Given the description of an element on the screen output the (x, y) to click on. 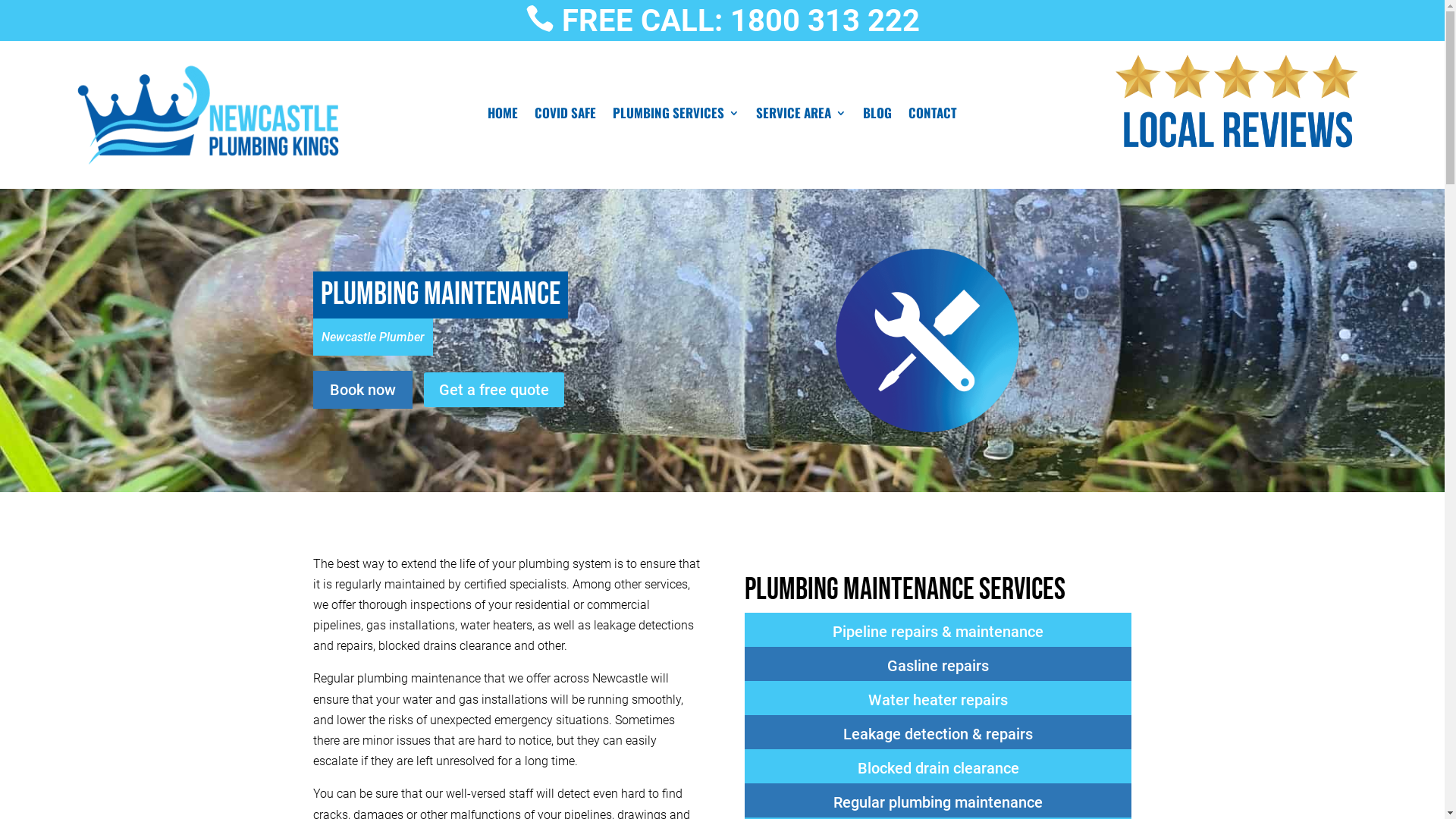
Book now Element type: text (361, 389)
PLUMBING SERVICES Element type: text (675, 115)
Newcastle Plumbing Kings Element type: hover (207, 114)
HOME Element type: text (502, 115)
SERVICE AREA Element type: text (801, 115)
BLOG Element type: text (876, 115)
CONTACT Element type: text (932, 115)
5 Star Local Plumber Newcastle Hot Water Element type: hover (1236, 102)
Get a free quote Element type: text (493, 389)
COVID SAFE Element type: text (565, 115)
